Given the description of an element on the screen output the (x, y) to click on. 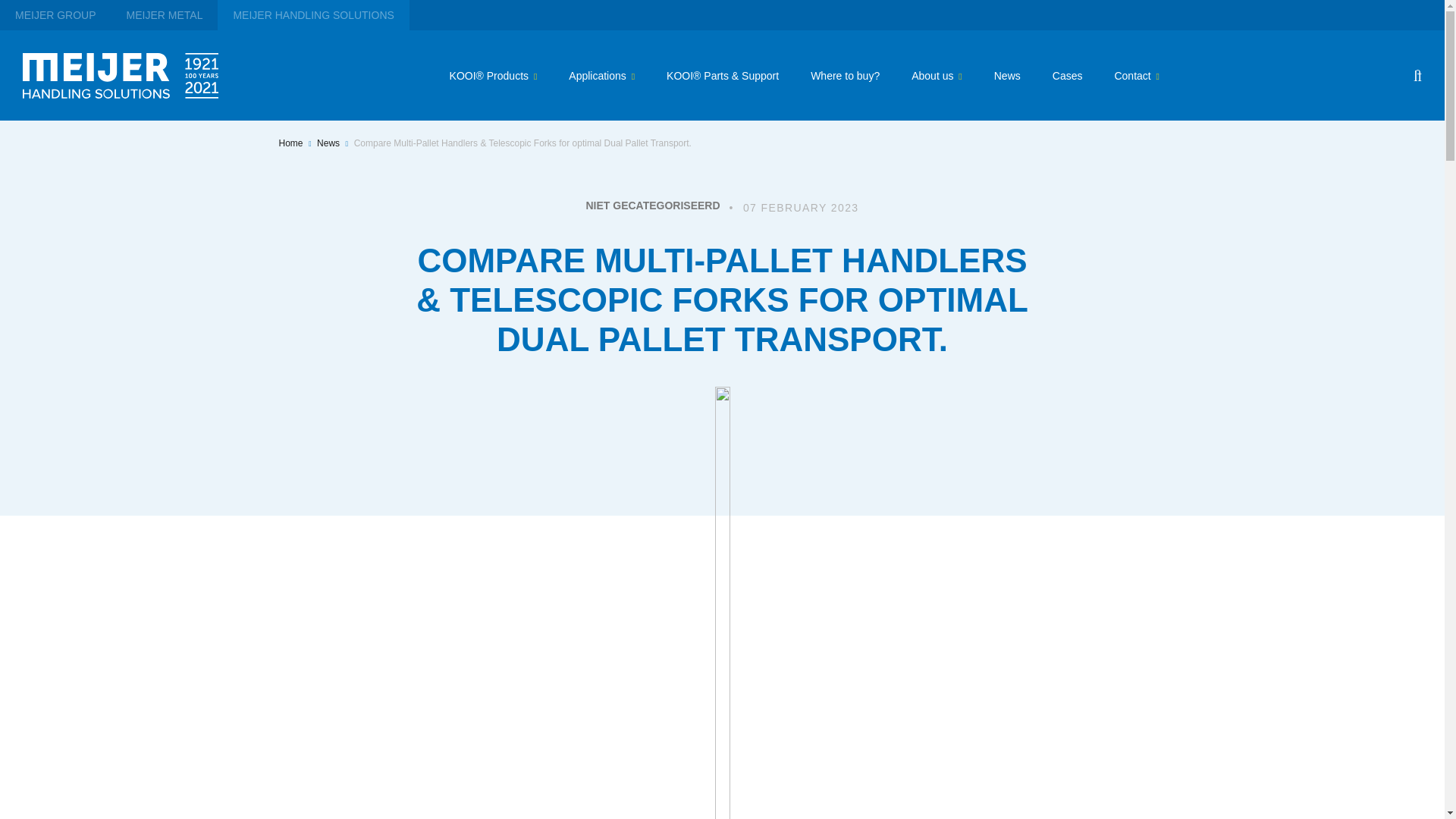
MEIJER METAL (165, 15)
MEIJER GROUP (56, 15)
MEIJER HANDLING SOLUTIONS (312, 15)
